Given the description of an element on the screen output the (x, y) to click on. 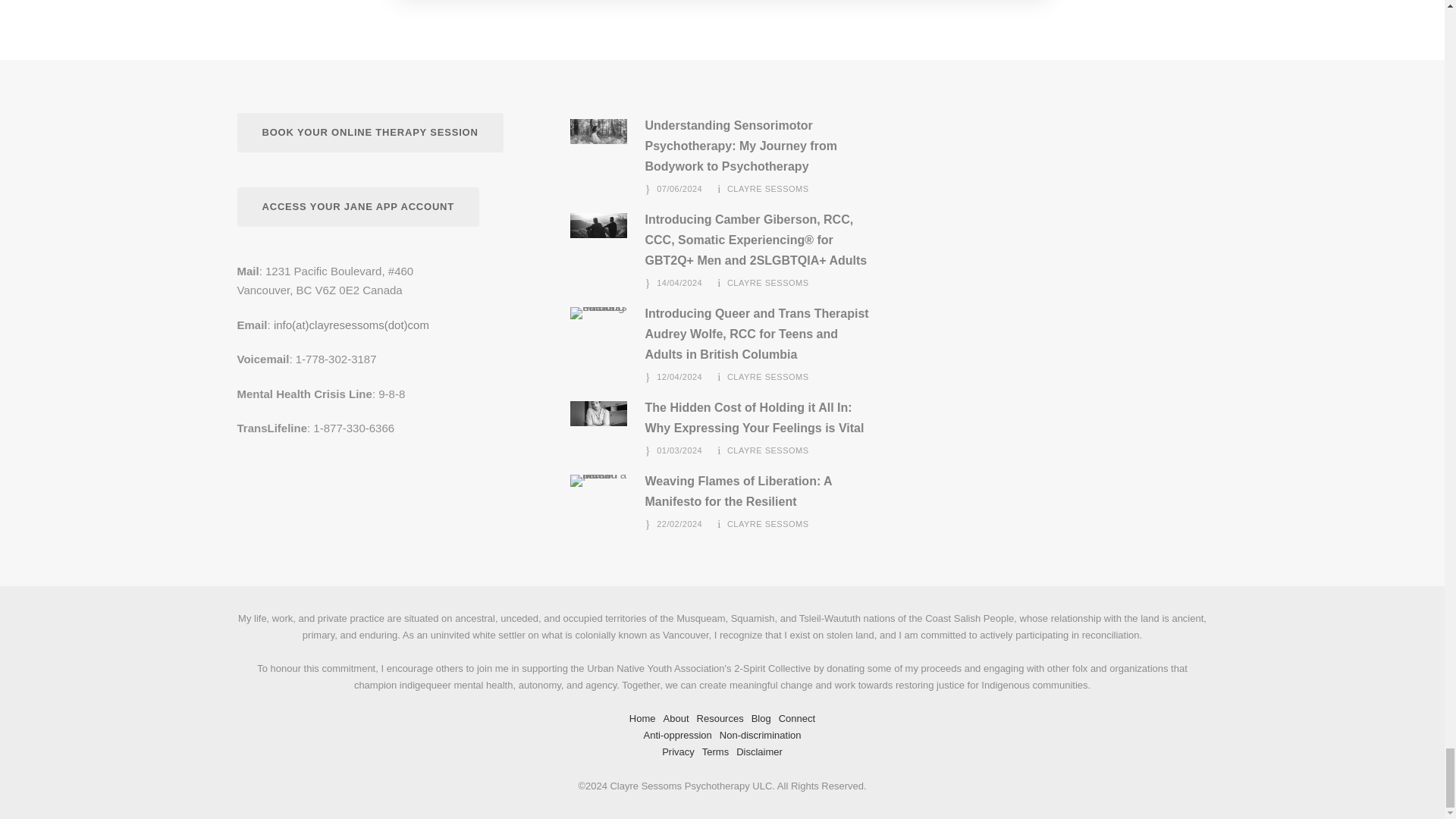
Posts by Clayre Sessoms (767, 376)
Posts by Clayre Sessoms (767, 282)
Posts by Clayre Sessoms (767, 188)
ACCESS YOUR JANE APP ACCOUNT (357, 207)
Posts by Clayre Sessoms (767, 523)
BOOK YOUR ONLINE THERAPY SESSION (368, 133)
Posts by Clayre Sessoms (767, 450)
